Given the description of an element on the screen output the (x, y) to click on. 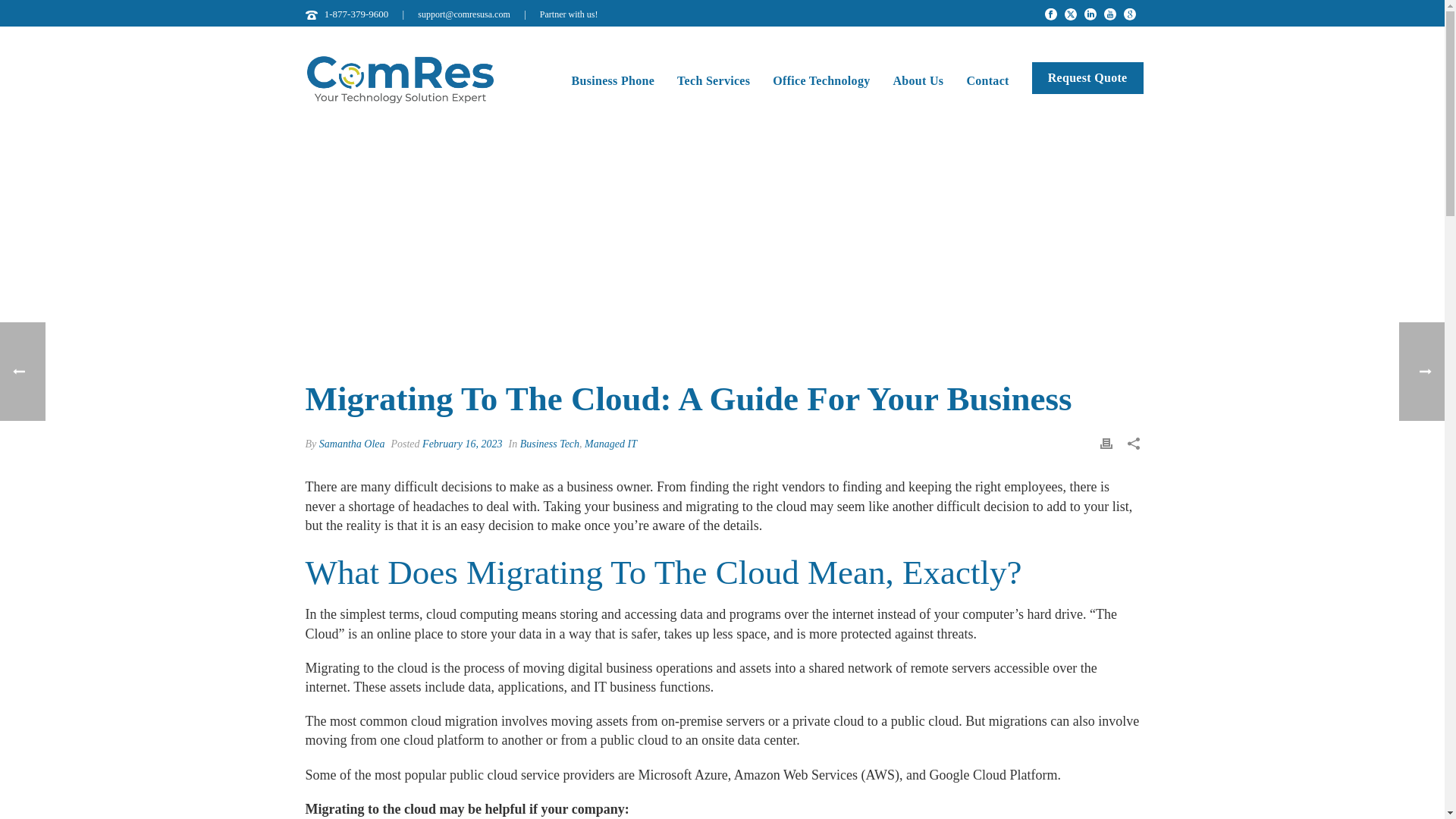
Equipping People to Communicate (399, 79)
Request Quote (1087, 79)
Managed IT (611, 443)
1-877-379-9600 (356, 13)
Posts by Samantha Olea (351, 443)
Business Phone (613, 79)
February 16, 2023 (462, 443)
Office Technology (820, 79)
Tech Services (713, 79)
